Given the description of an element on the screen output the (x, y) to click on. 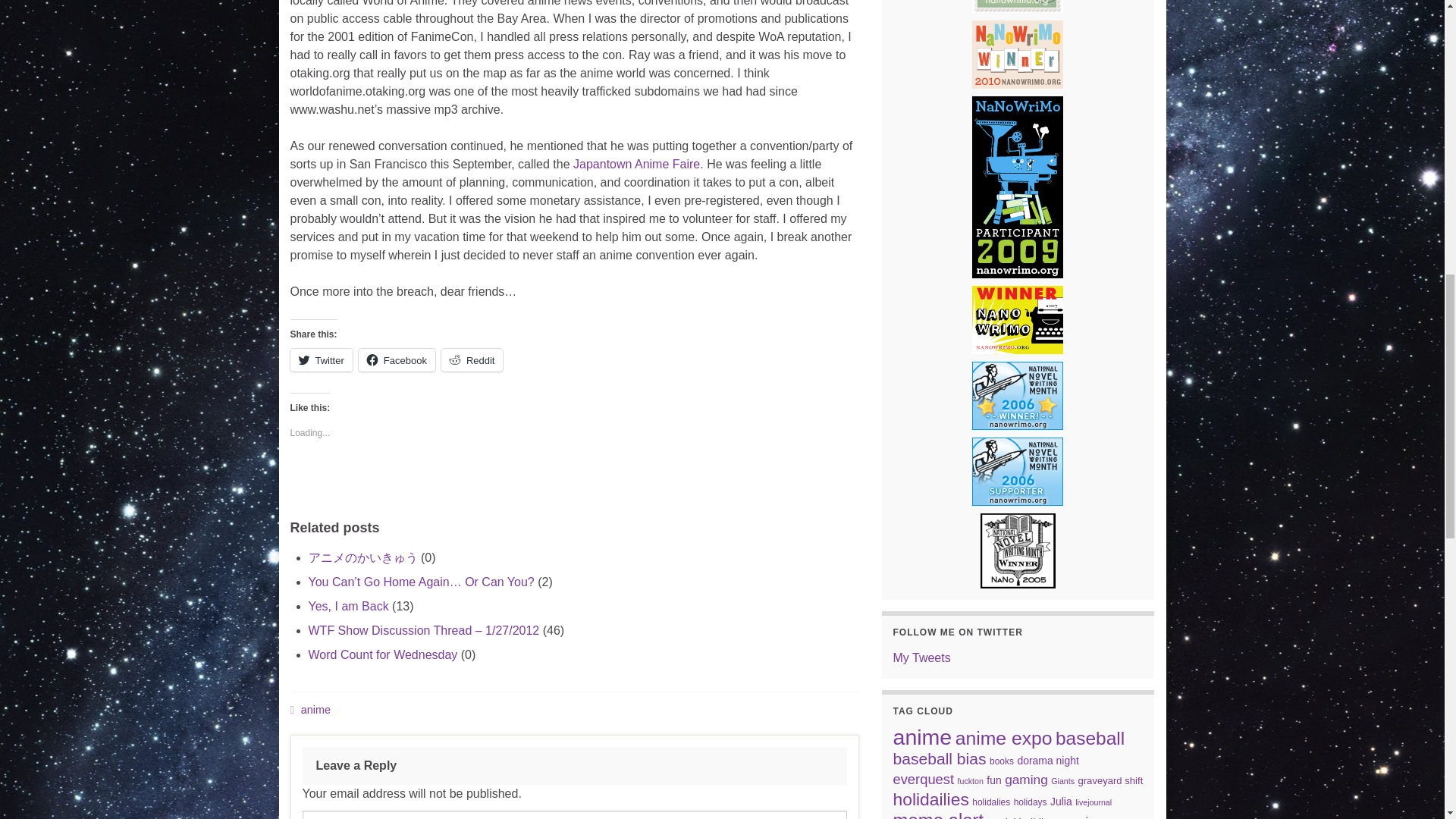
Click to share on Facebook (396, 359)
My Tweets (921, 657)
books (1001, 760)
Word Count for Wednesday (382, 654)
baseball (1089, 738)
everquest (924, 779)
anime expo (1003, 738)
Click to share on Reddit (472, 359)
dorama night (1047, 760)
Click to share on Twitter (320, 359)
